Given the description of an element on the screen output the (x, y) to click on. 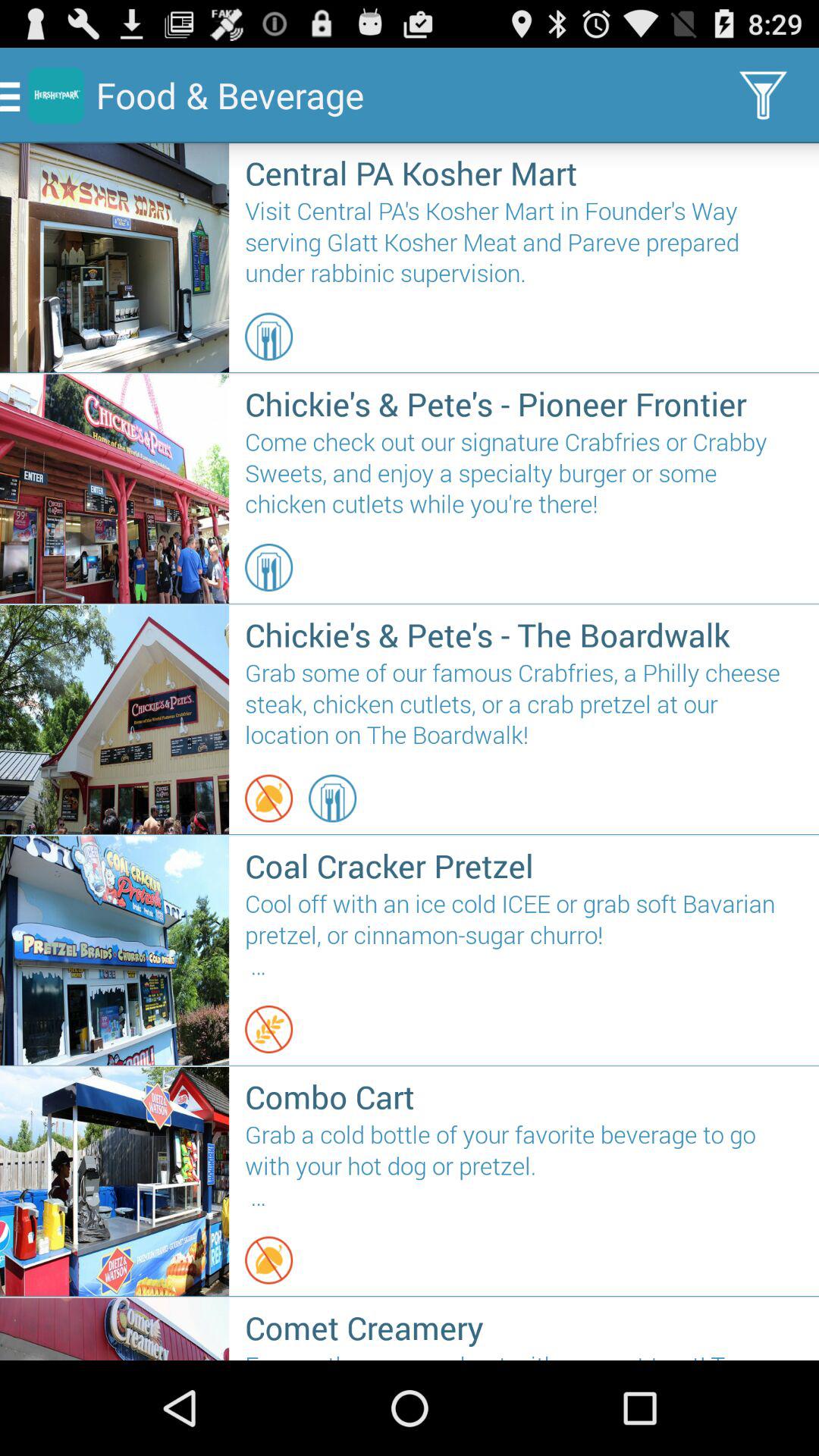
open cool off with item (524, 936)
